Given the description of an element on the screen output the (x, y) to click on. 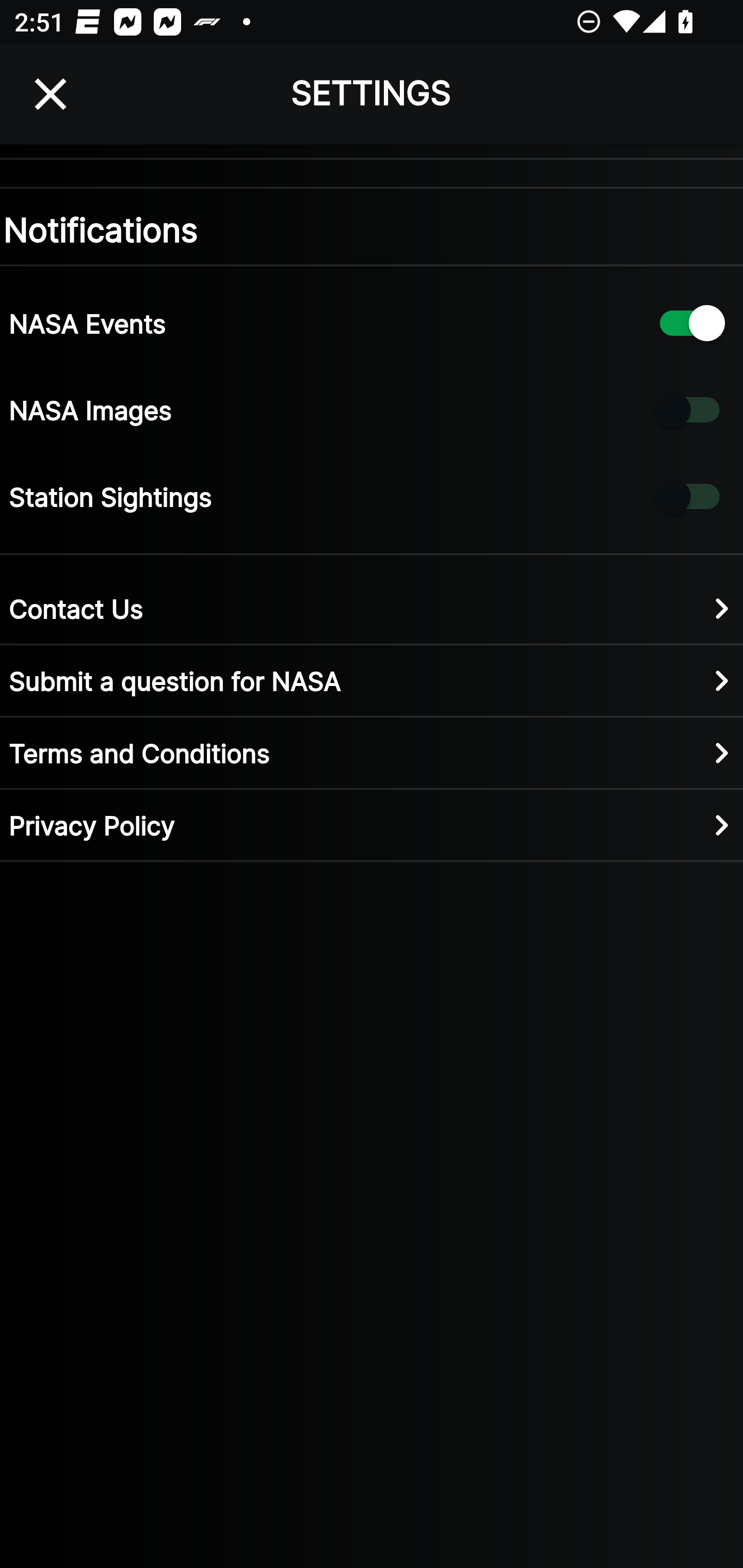
Contact Us (371, 608)
Submit a question for NASA (371, 680)
Terms and Conditions (371, 752)
Privacy Policy (371, 824)
